Given the description of an element on the screen output the (x, y) to click on. 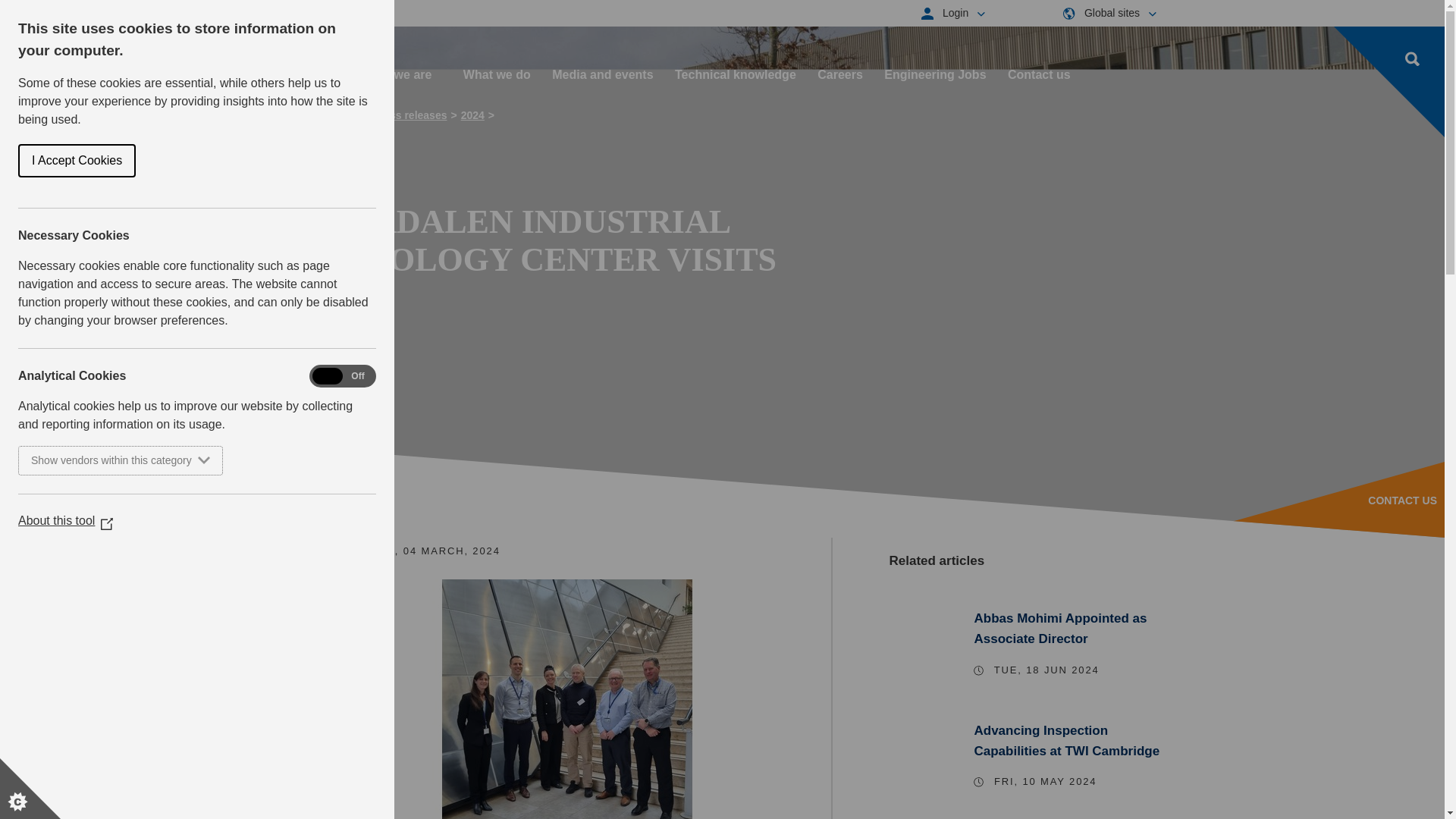
Show vendors within this category (41, 460)
